Given the description of an element on the screen output the (x, y) to click on. 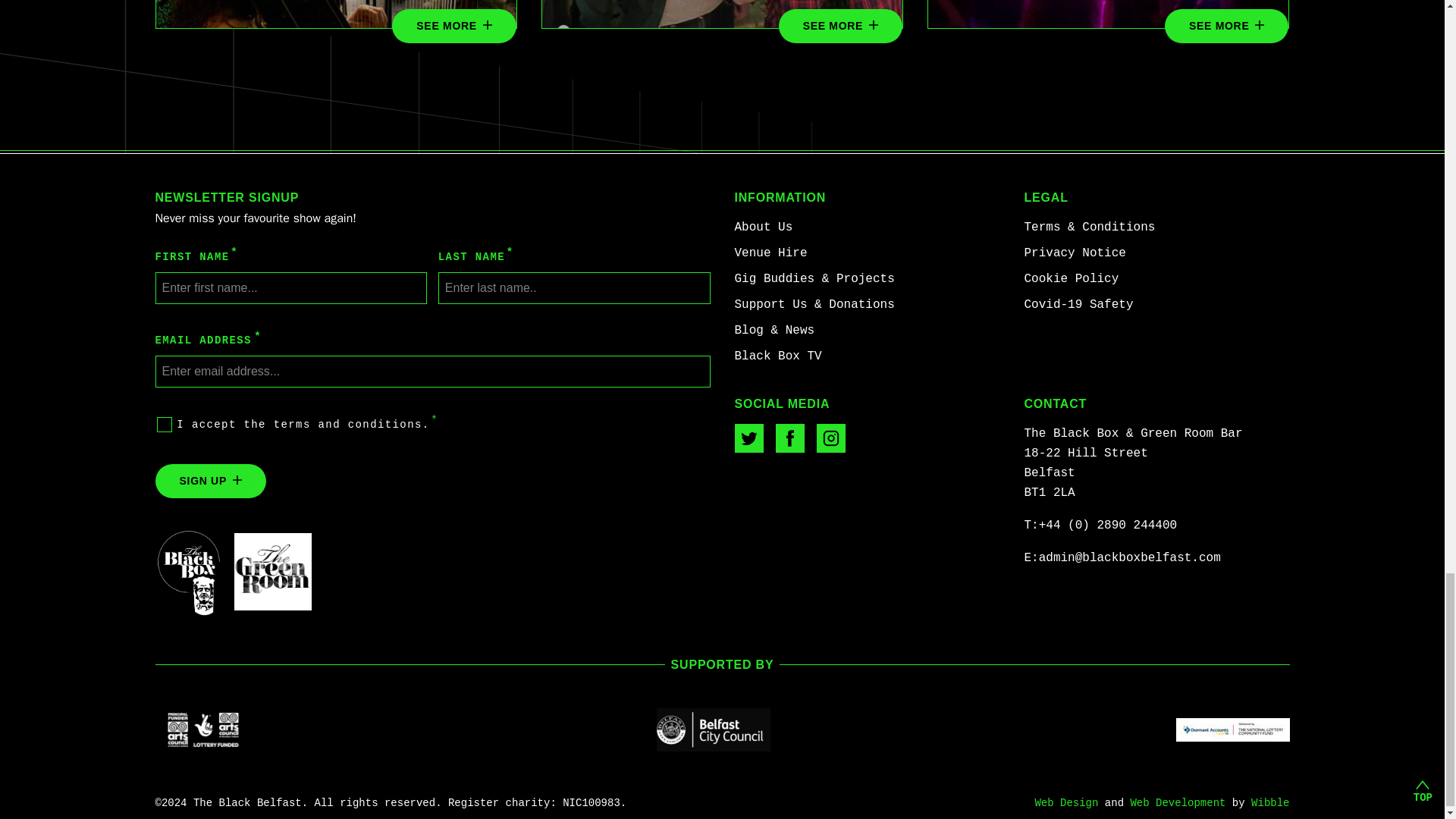
1 (164, 424)
